Given the description of an element on the screen output the (x, y) to click on. 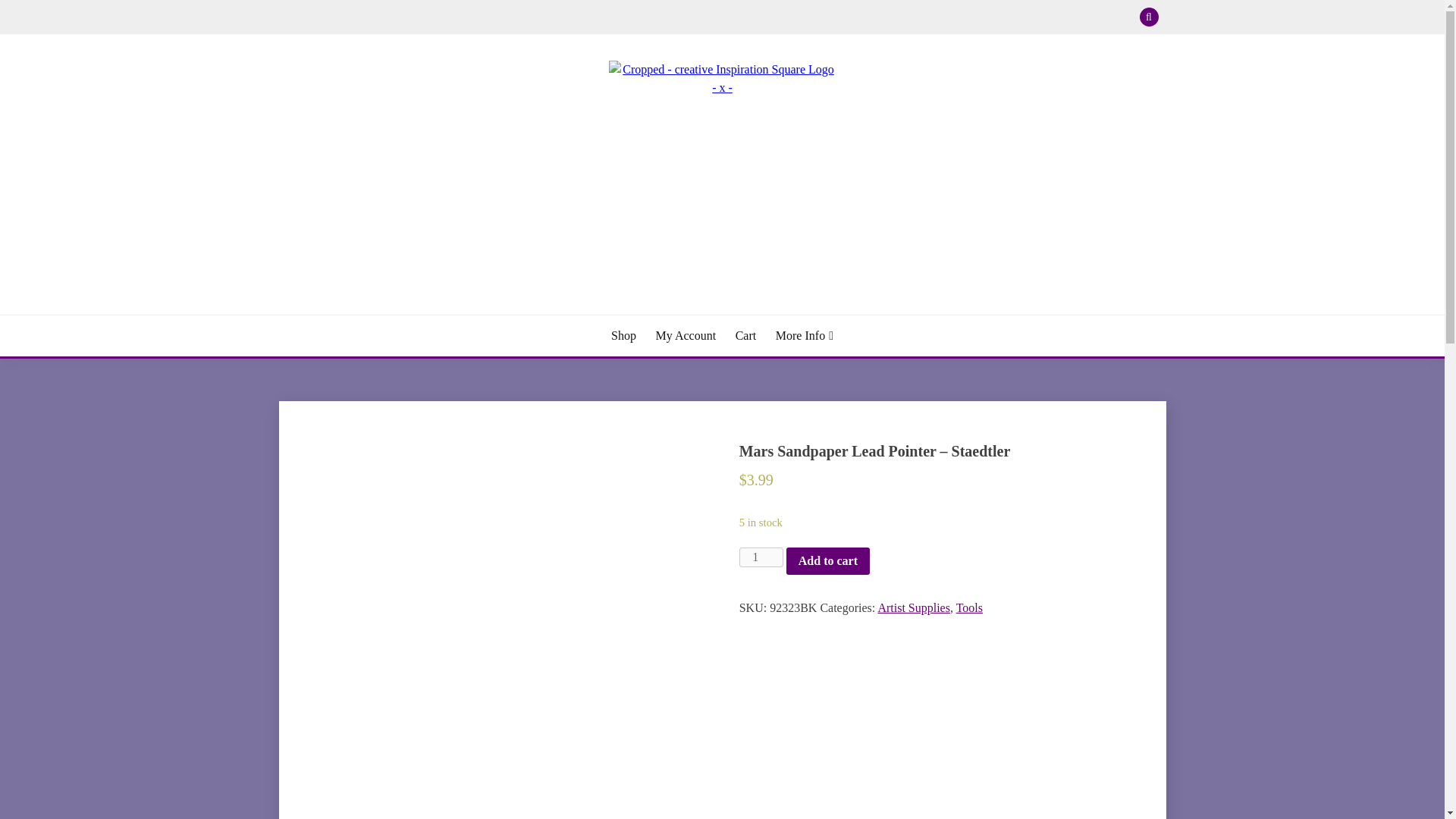
Artist Supplies (913, 607)
1 (761, 557)
Add to cart (827, 560)
Shop (623, 335)
CREATIVE INSPIRATIONS (451, 312)
Cart (746, 335)
Search (832, 18)
More Info (804, 335)
Tools (969, 607)
My Account (686, 335)
